Given the description of an element on the screen output the (x, y) to click on. 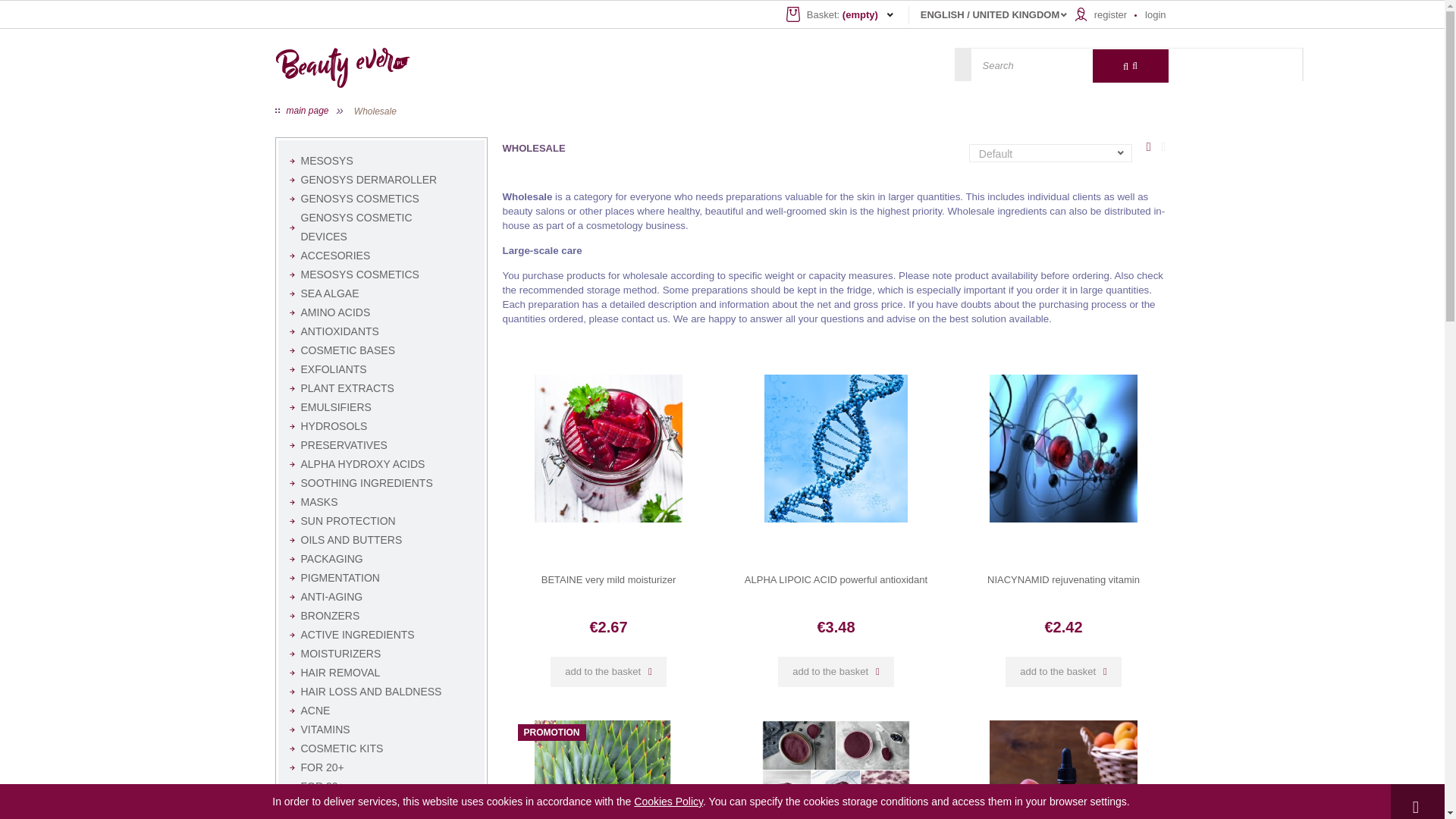
PRESERVATIVES (381, 445)
SUN PROTECTION (381, 520)
MASKS (381, 502)
ANTI-AGING (381, 597)
ACCESORIES (381, 255)
login (1155, 14)
Accesories (381, 255)
PIGMENTATION (381, 578)
PLANT EXTRACTS (381, 388)
Sea algae (381, 293)
